Given the description of an element on the screen output the (x, y) to click on. 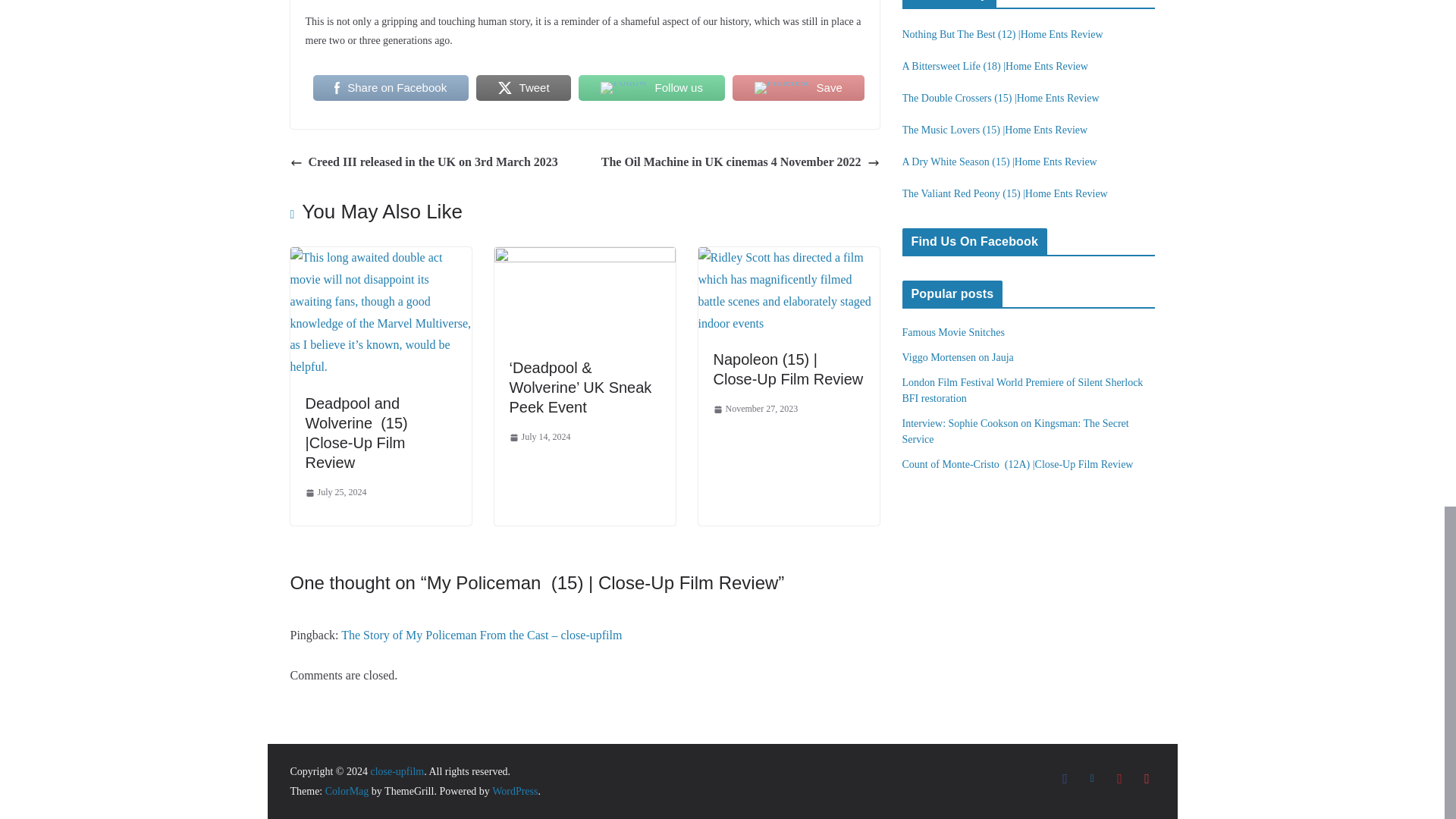
July 14, 2024 (539, 437)
Follow us (650, 87)
Tweet (524, 87)
The Oil Machine in UK cinemas 4 November 2022 (740, 162)
Creed III released in the UK on 3rd March 2023  (424, 162)
Save (798, 87)
6:46 pm (335, 492)
July 25, 2024 (335, 492)
Share on Facebook (390, 87)
